Given the description of an element on the screen output the (x, y) to click on. 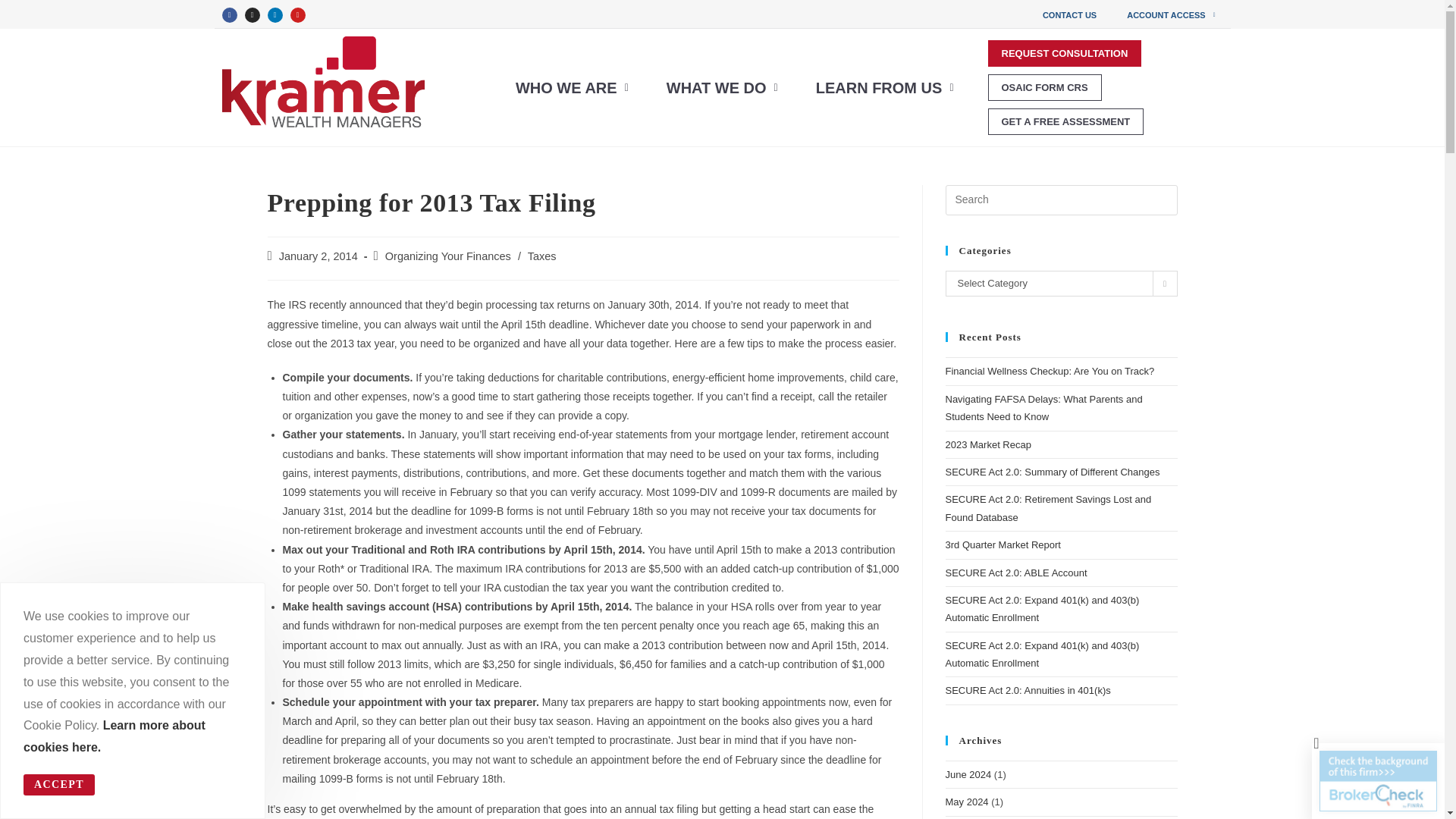
LEARN FROM US (884, 87)
CONTACT US (1069, 15)
WHO WE ARE (571, 87)
WHAT WE DO (721, 87)
ACCOUNT ACCESS (1171, 15)
